Given the description of an element on the screen output the (x, y) to click on. 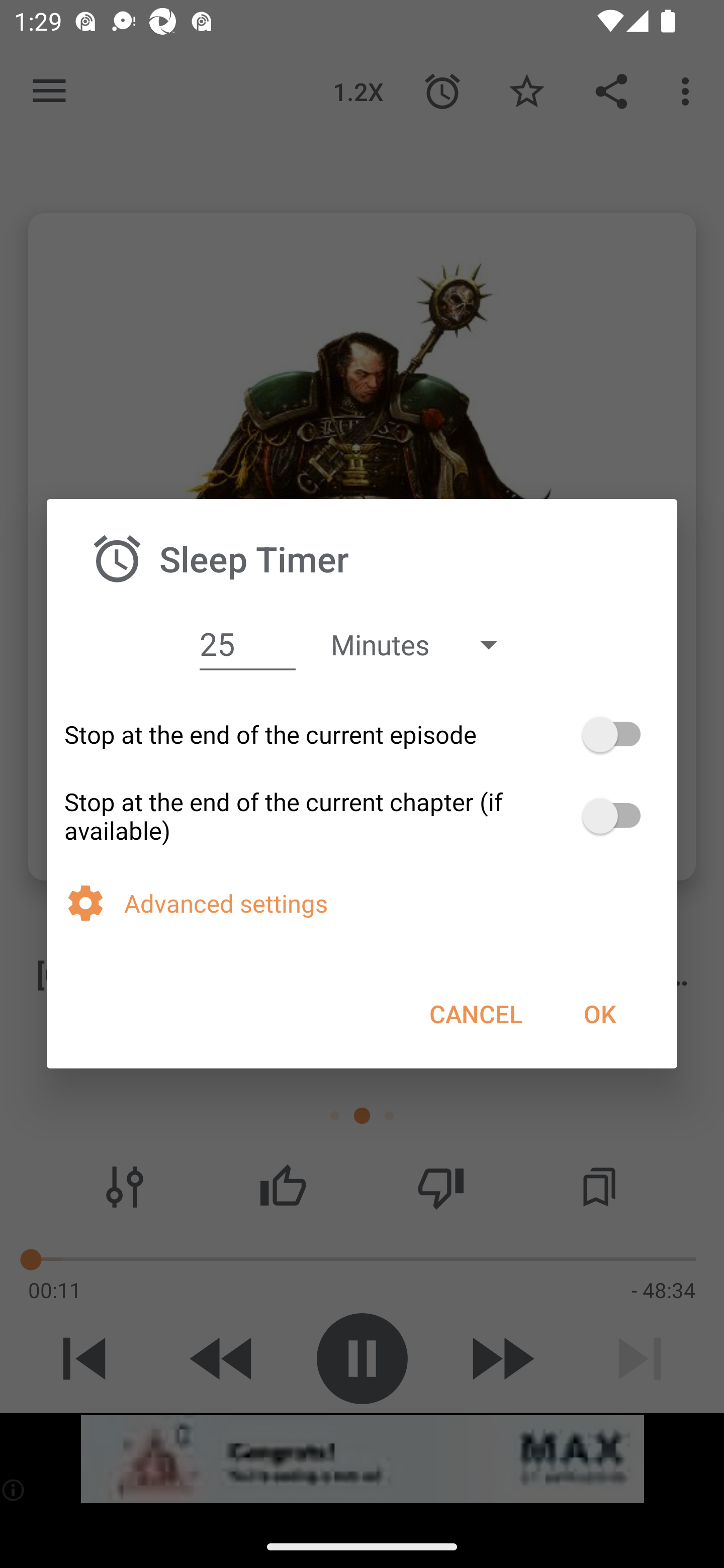
25 (247, 644)
Minutes (423, 643)
Stop at the end of the current episode (361, 734)
Advanced settings (391, 902)
CANCEL (475, 1013)
OK (599, 1013)
